Given the description of an element on the screen output the (x, y) to click on. 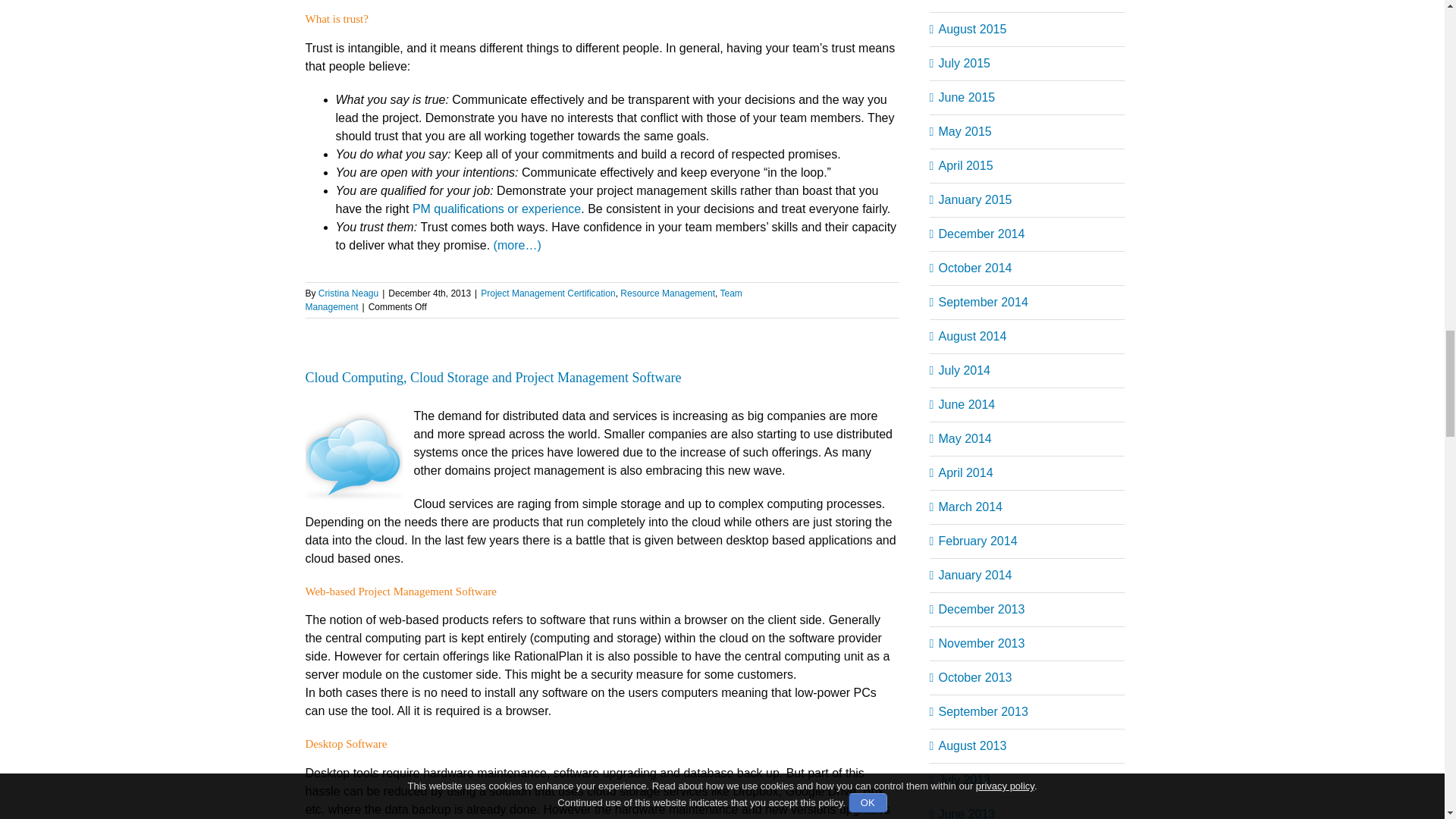
cloud project management software (352, 454)
Posts by Cristina Neagu (348, 293)
